Given the description of an element on the screen output the (x, y) to click on. 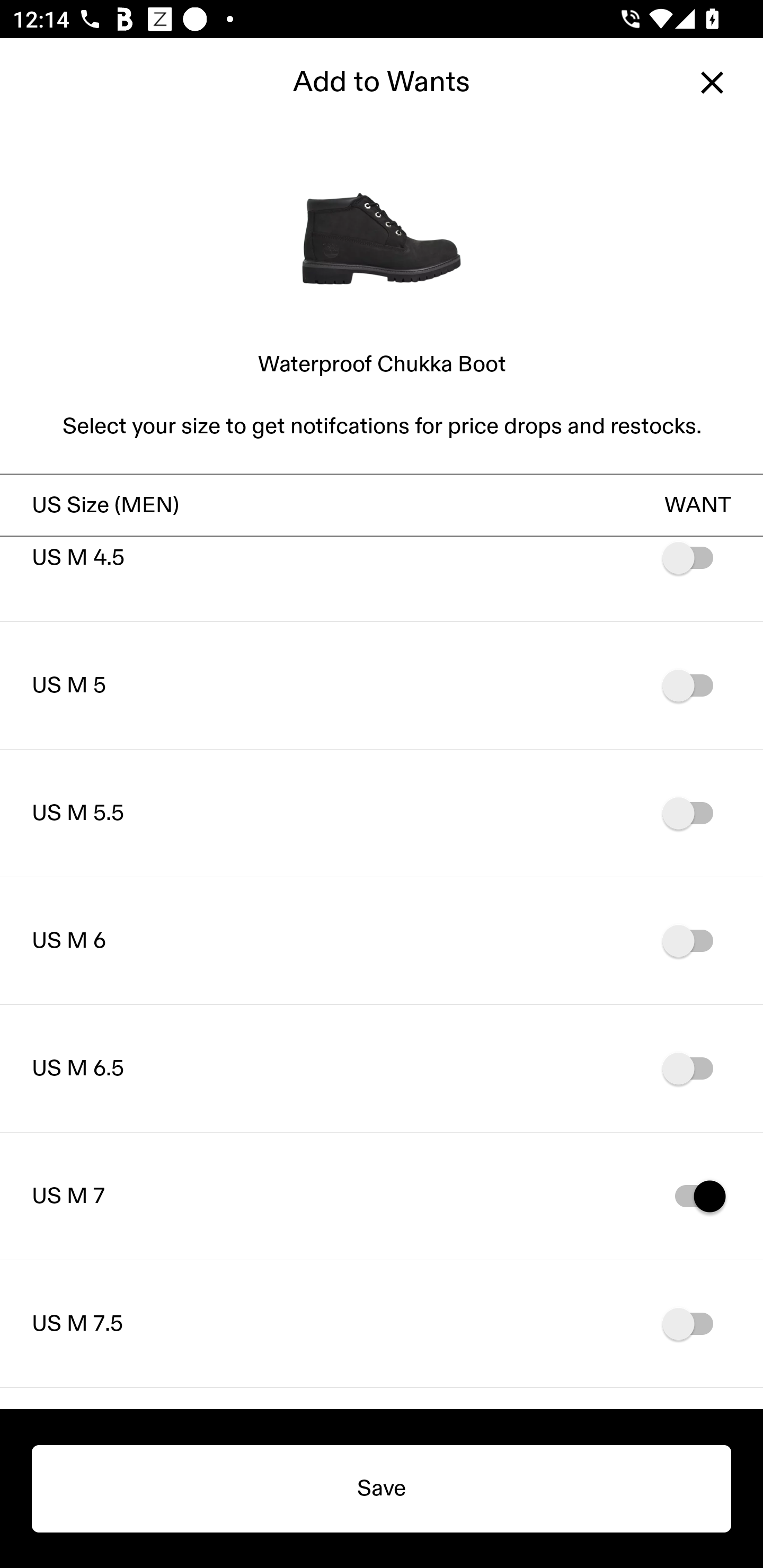
Save (381, 1488)
